Given the description of an element on the screen output the (x, y) to click on. 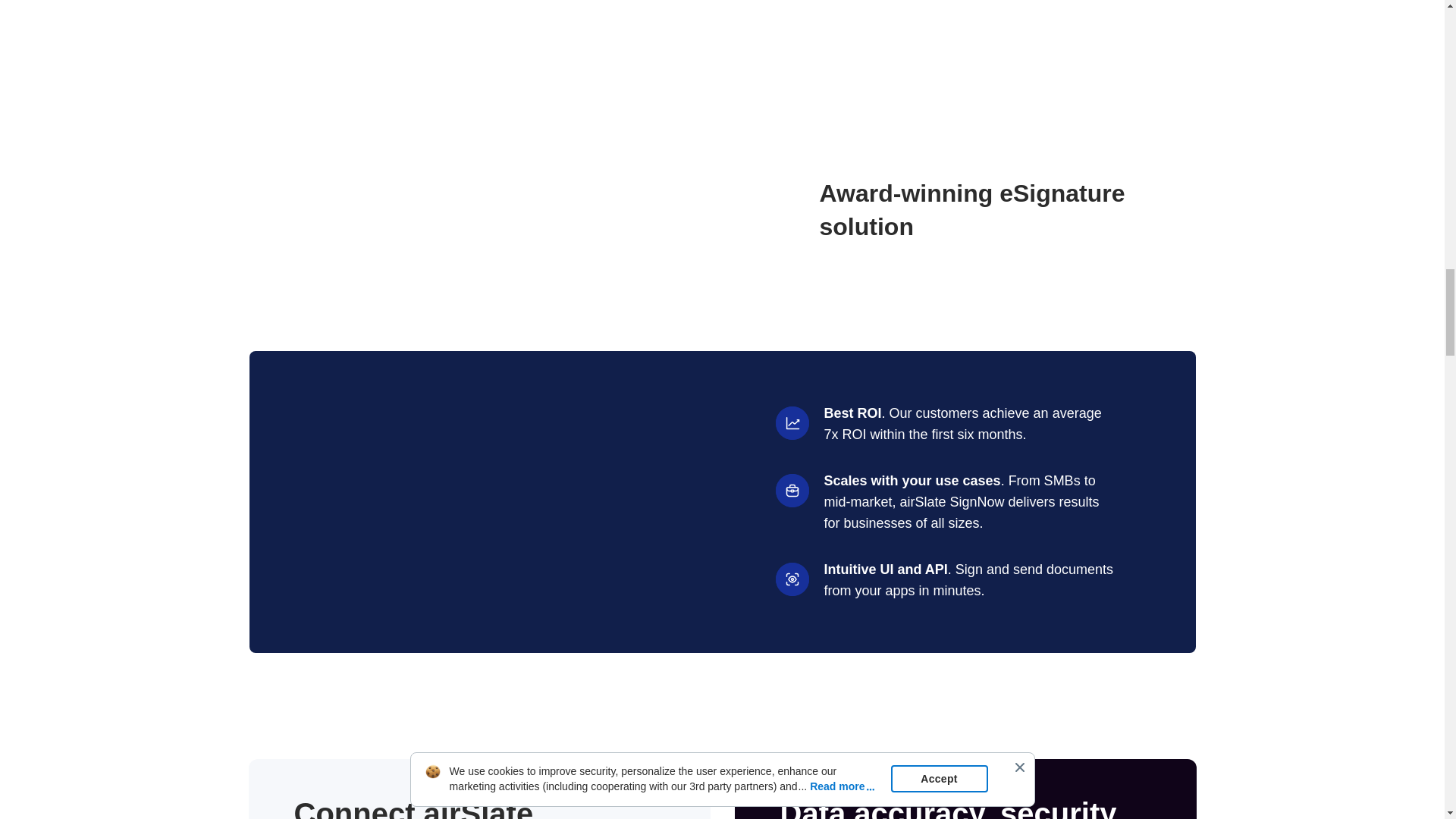
Leader Summer 2024 (558, 209)
Best Support Summer 2024 (425, 209)
Small Business Summer 2024 (690, 209)
Mid Market Summer 2024 (292, 209)
